Given the description of an element on the screen output the (x, y) to click on. 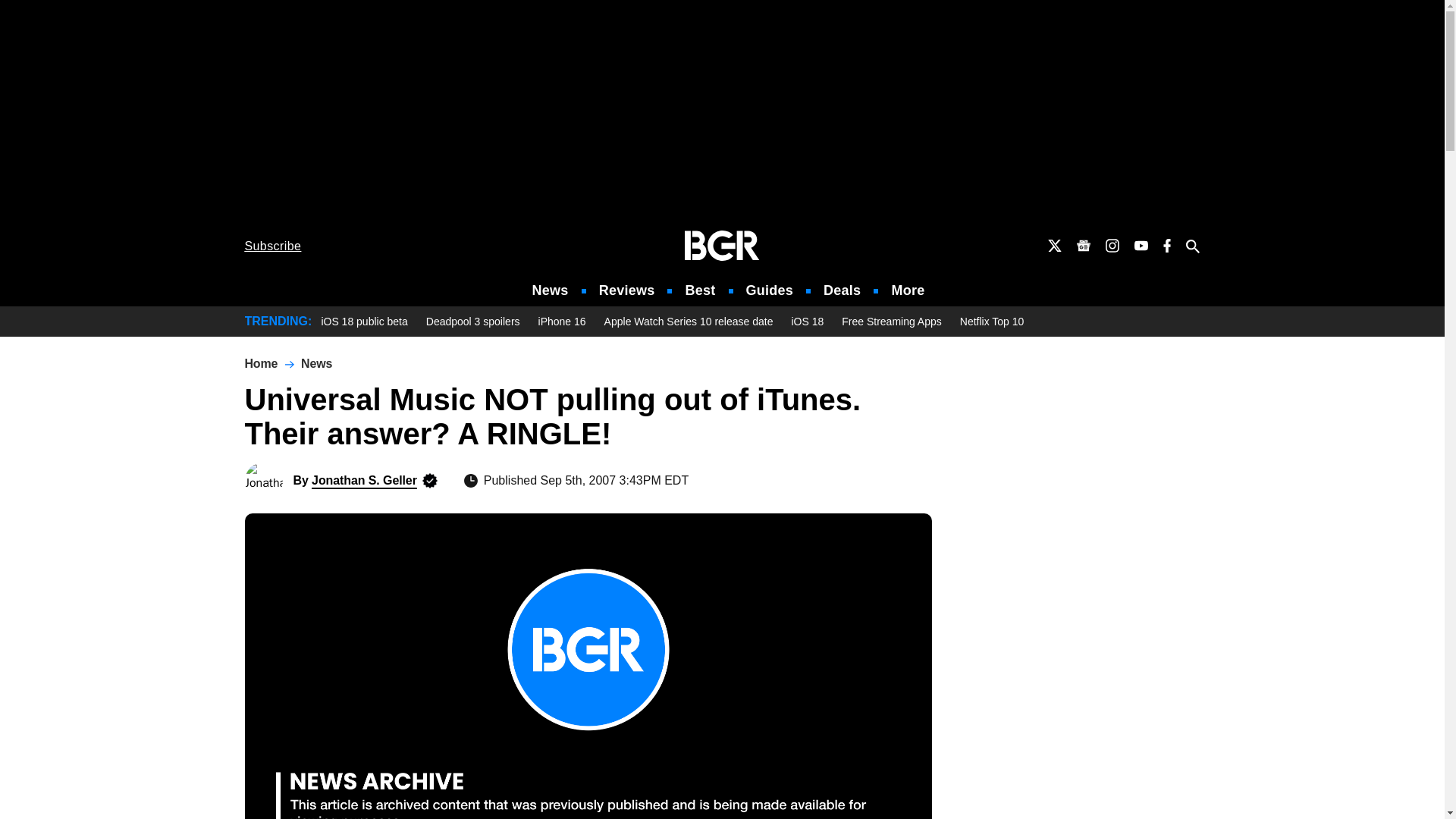
More (907, 290)
Posts by Jonathan S. Geller (363, 480)
Guides (769, 290)
Deals (842, 290)
Subscribe (272, 245)
News (550, 290)
Best (699, 290)
Reviews (626, 290)
